Given the description of an element on the screen output the (x, y) to click on. 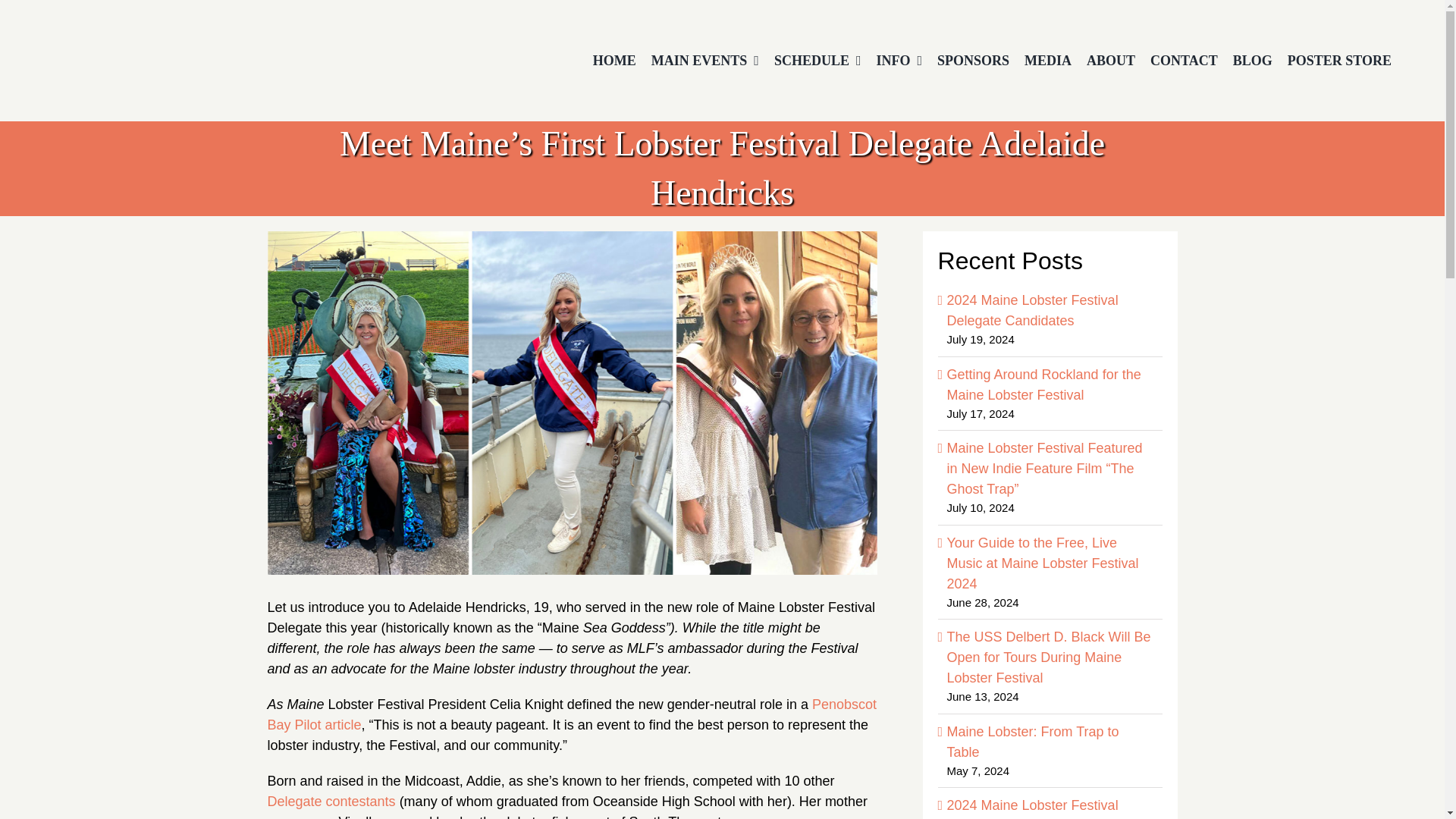
ABOUT (1110, 60)
SPONSORS (973, 60)
MEDIA (1047, 60)
SCHEDULE (818, 60)
HOME (614, 60)
MAIN EVENTS (705, 60)
INFO (898, 60)
